Given the description of an element on the screen output the (x, y) to click on. 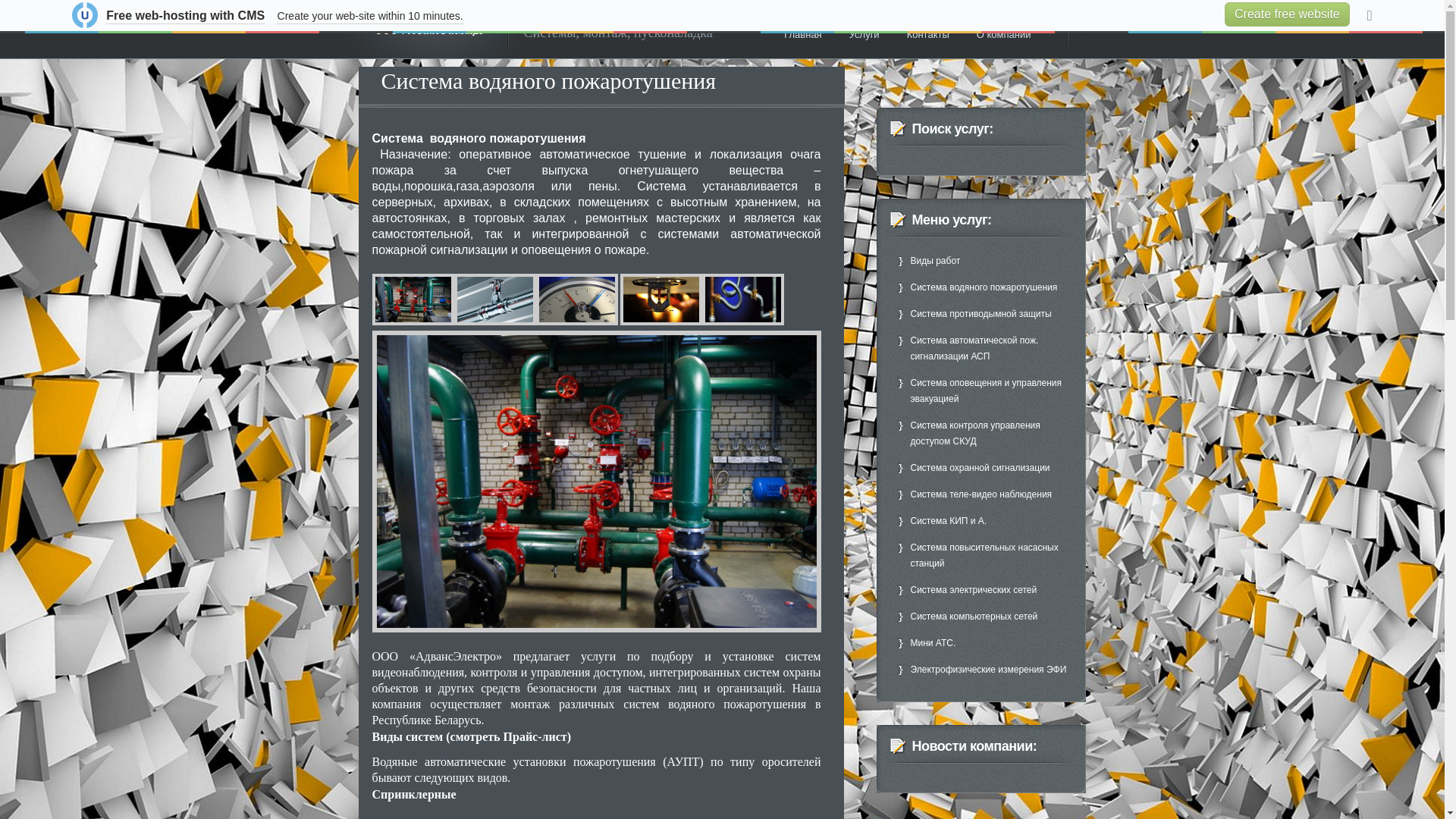
. Element type: text (1084, 30)
